Given the description of an element on the screen output the (x, y) to click on. 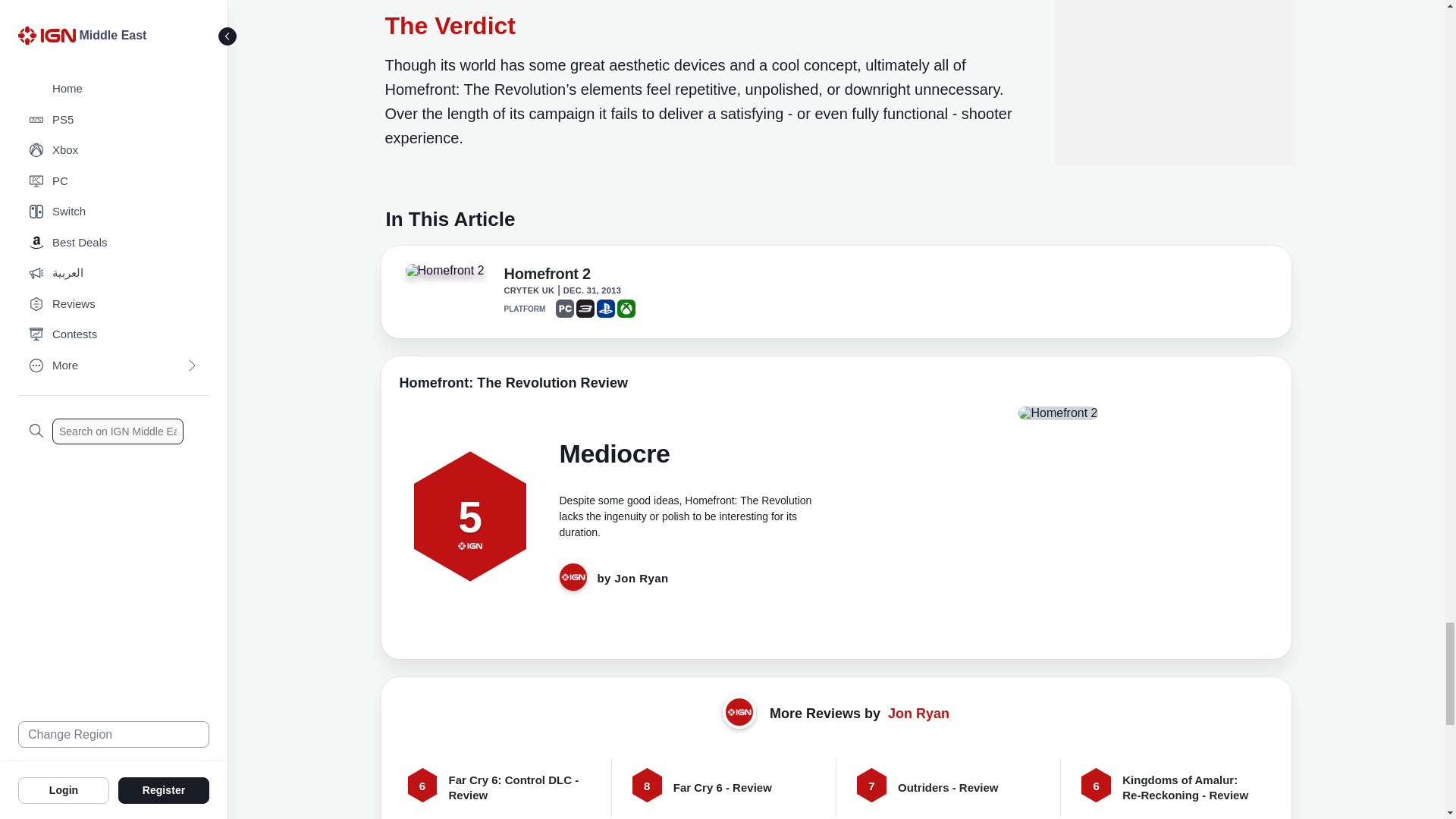
PS3 (585, 308)
XBOXONE (625, 308)
Homefront 2 (547, 276)
Homefront 2 (443, 270)
PS4 (605, 308)
Homefront 2 (448, 274)
PC (564, 308)
